Given the description of an element on the screen output the (x, y) to click on. 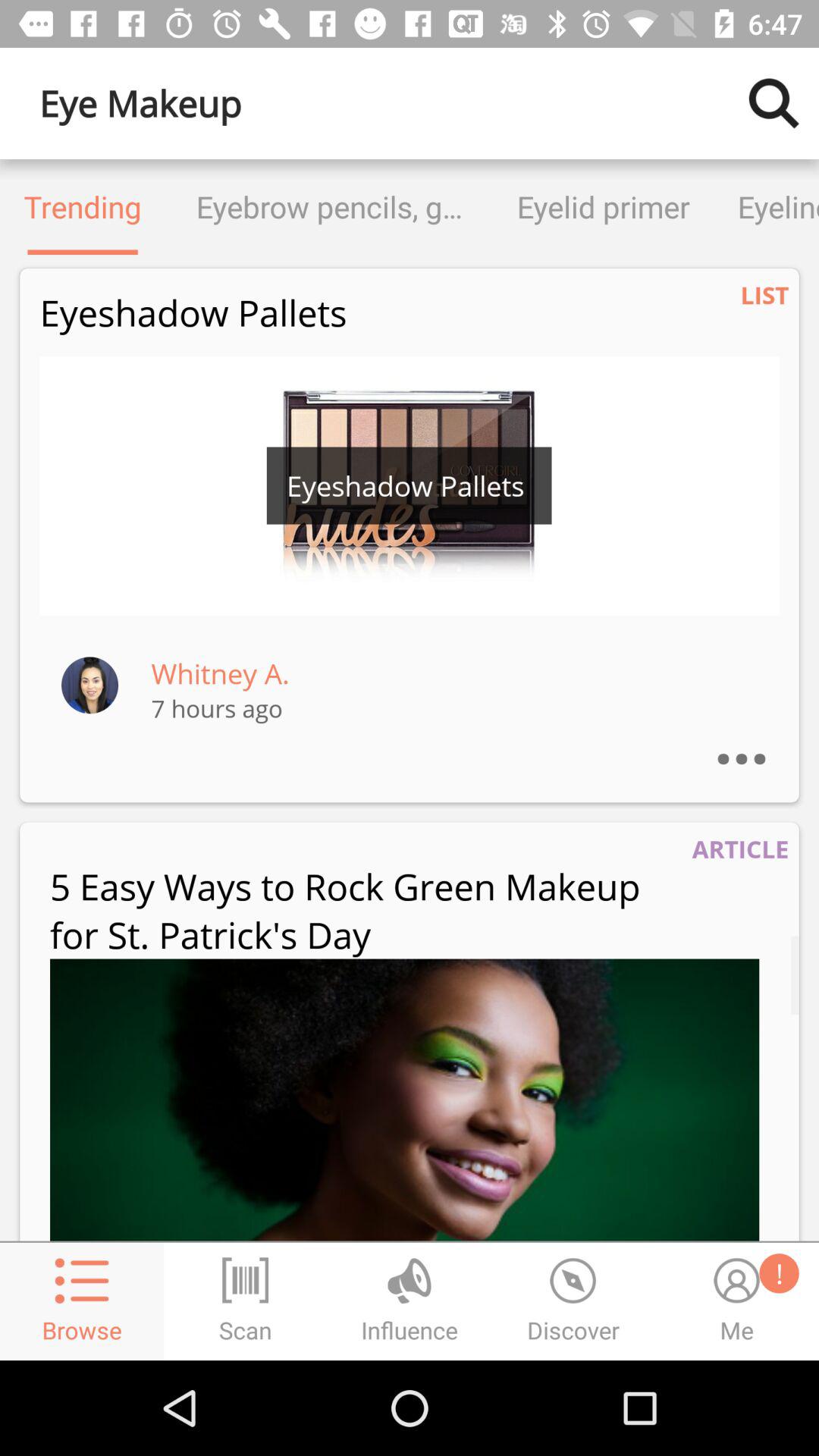
turn off the item below the 5 easy ways item (404, 1099)
